Given the description of an element on the screen output the (x, y) to click on. 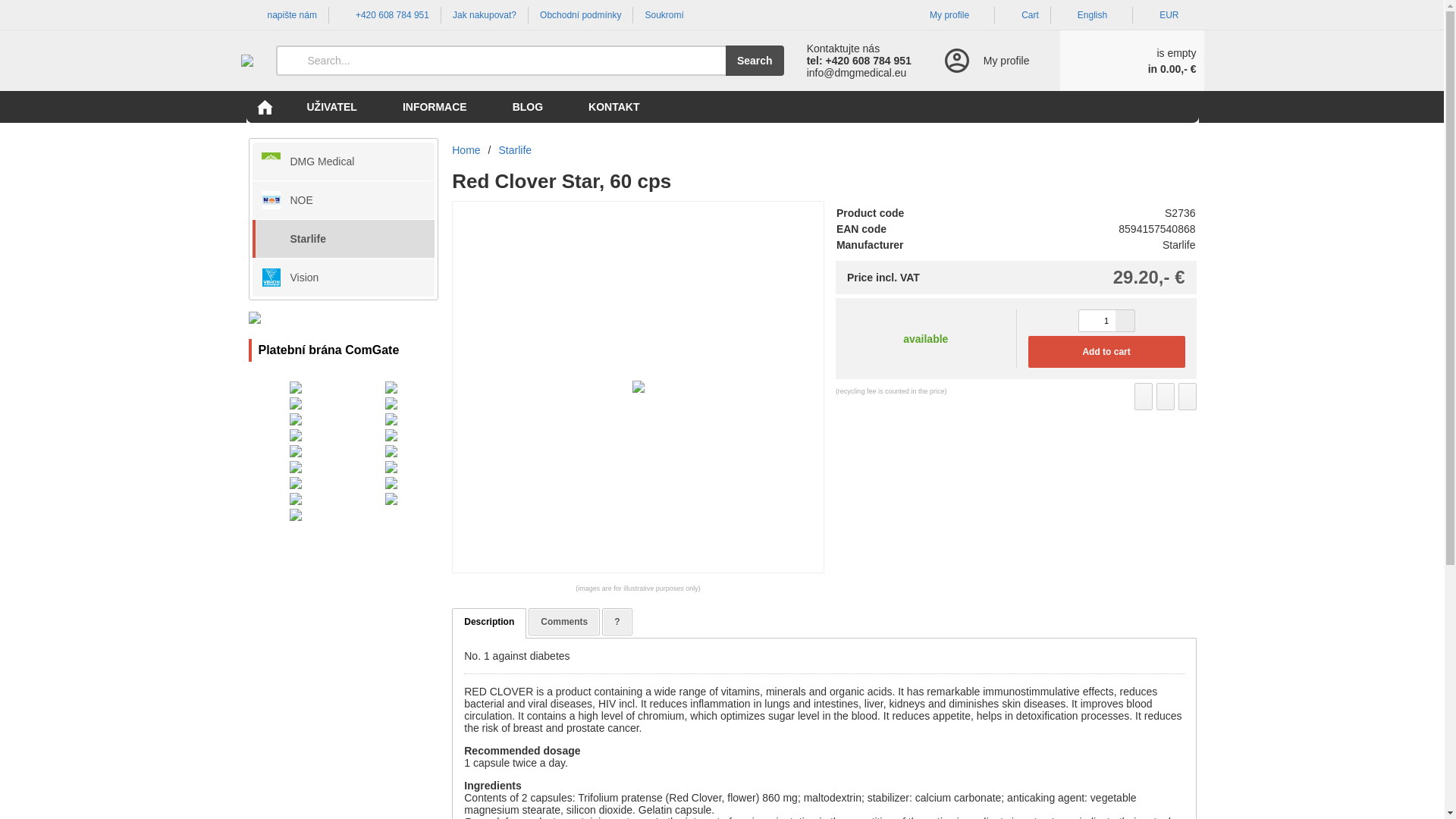
 EUR (1168, 14)
Starlife (515, 150)
Vision (342, 277)
mBank (391, 451)
INFORMACE (434, 106)
BLOG (527, 106)
 English (1091, 14)
Raiffeisen BANK (391, 467)
MasterCard (295, 403)
 My profile (948, 14)
